Given the description of an element on the screen output the (x, y) to click on. 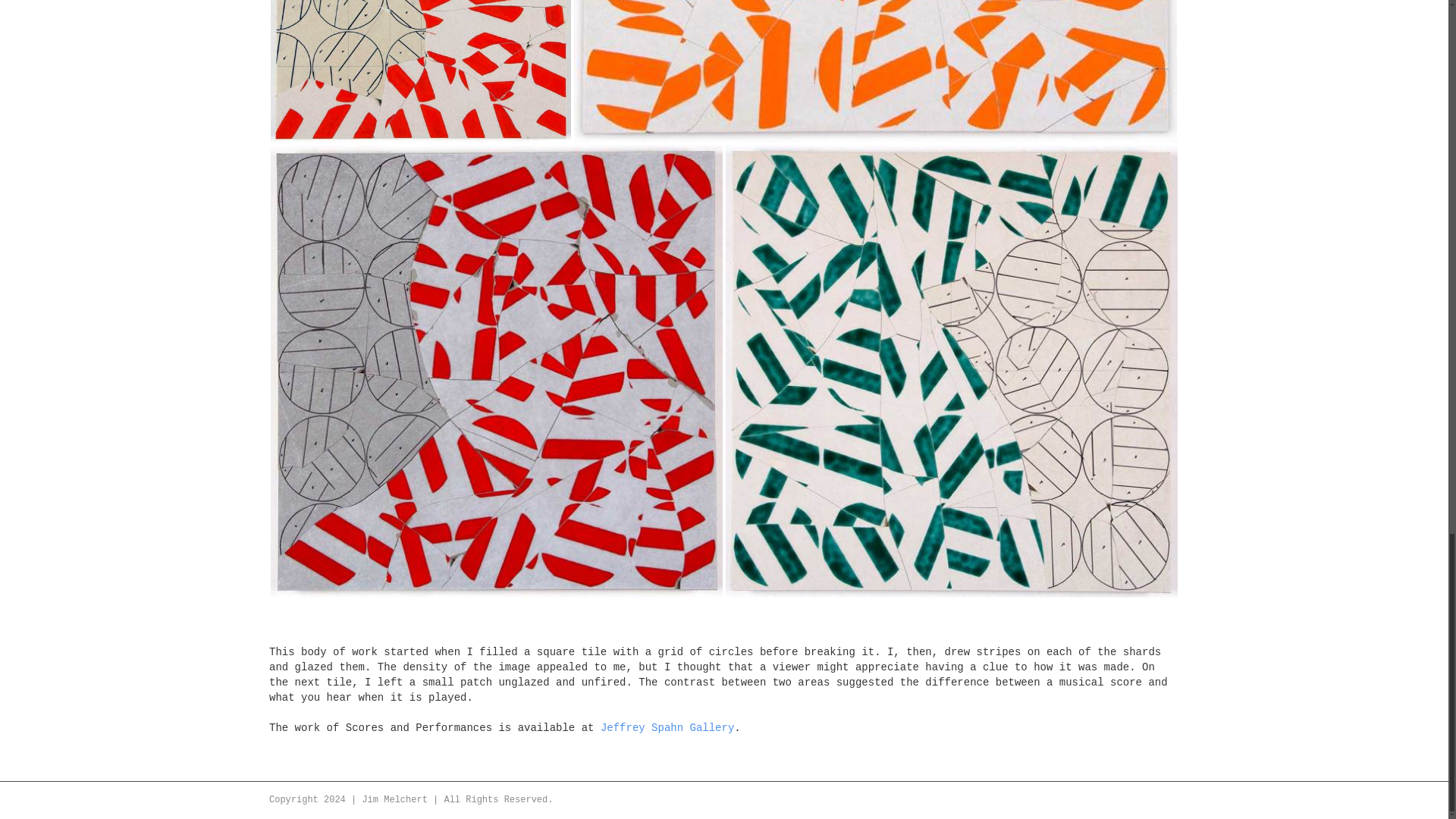
Jeffrey Spahn Gallery (666, 727)
